Given the description of an element on the screen output the (x, y) to click on. 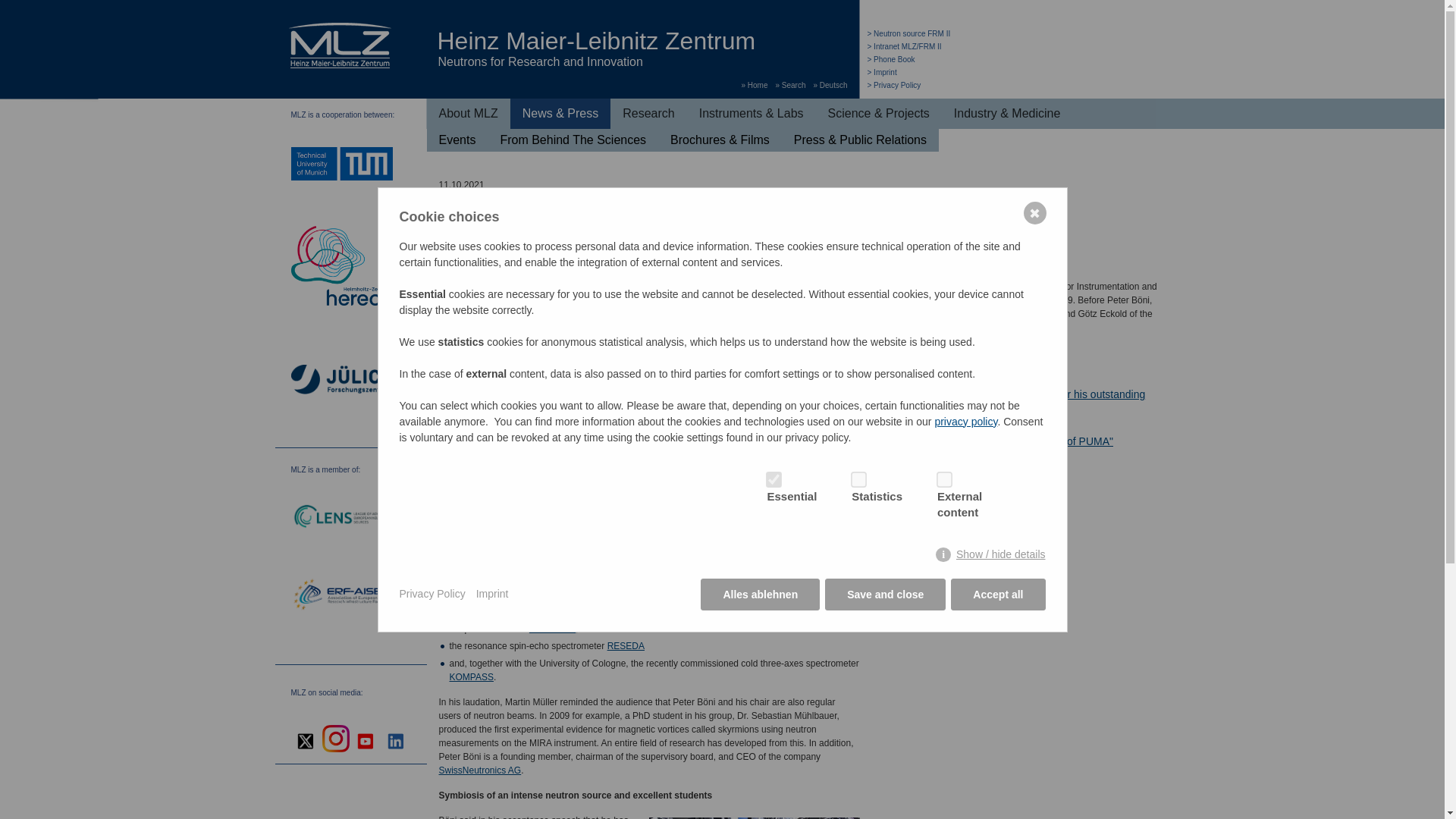
Events (456, 139)
About MLZ (467, 113)
Imprint (881, 71)
Phone Book (891, 59)
on (855, 476)
From Behind The Sciences (572, 139)
LENS (342, 518)
ERF-AISBL (342, 595)
Helmholtz-Zentrum Hereon (342, 267)
on (770, 476)
Privacy Policy  (894, 85)
on (941, 476)
Neutron source FRM II (908, 33)
